Given the description of an element on the screen output the (x, y) to click on. 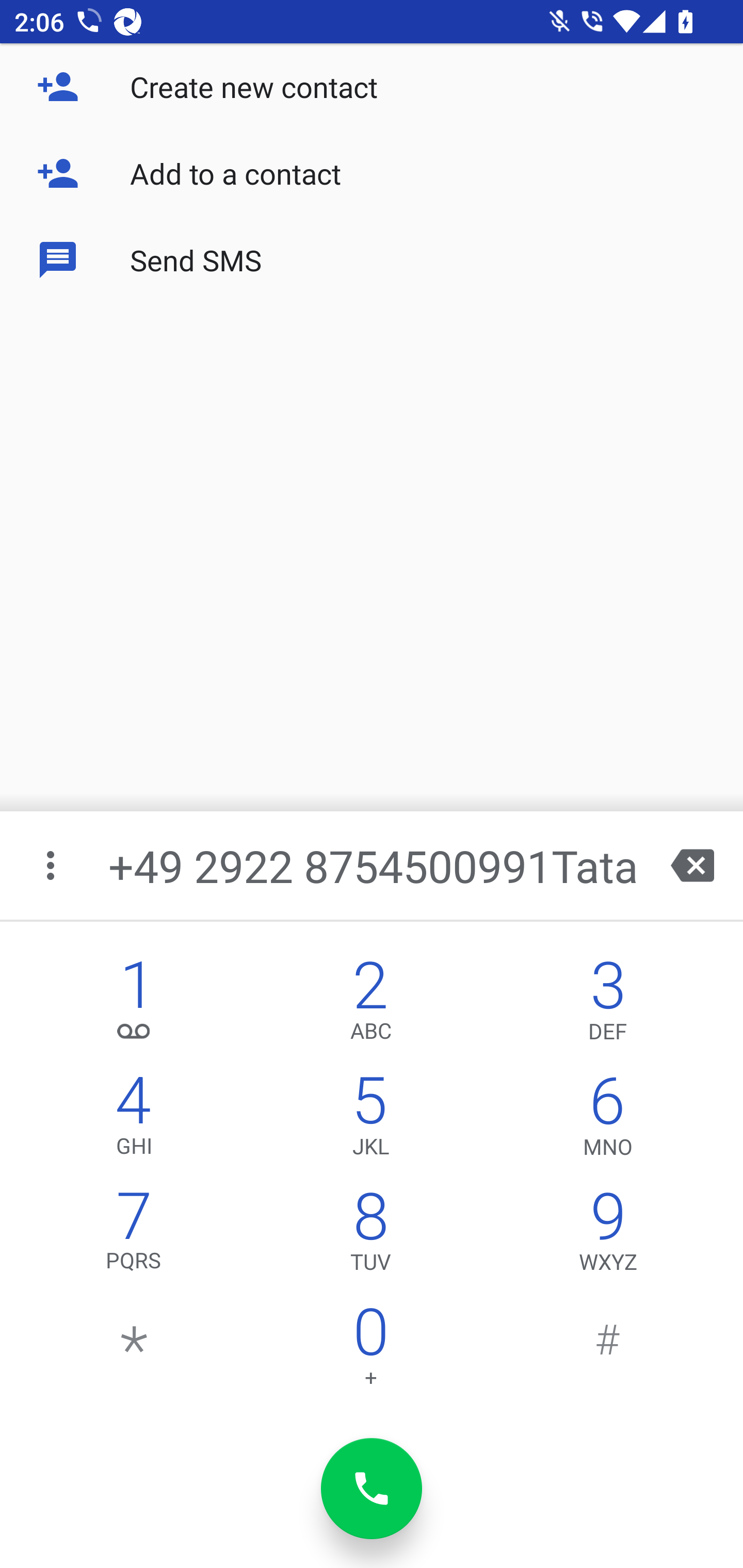
Create new contact (371, 86)
Add to a contact (371, 173)
Send SMS (371, 259)
+49 2922 8754500991Tata (372, 865)
backspace (692, 865)
More options (52, 865)
1, 1 (133, 1005)
2,ABC 2 ABC (370, 1005)
3,DEF 3 DEF (607, 1005)
4,GHI 4 GHI (133, 1120)
5,JKL 5 JKL (370, 1120)
6,MNO 6 MNO (607, 1120)
7,PQRS 7 PQRS (133, 1235)
8,TUV 8 TUV (370, 1235)
9,WXYZ 9 WXYZ (607, 1235)
* (133, 1351)
0 0 + (370, 1351)
# (607, 1351)
dial (371, 1488)
